Given the description of an element on the screen output the (x, y) to click on. 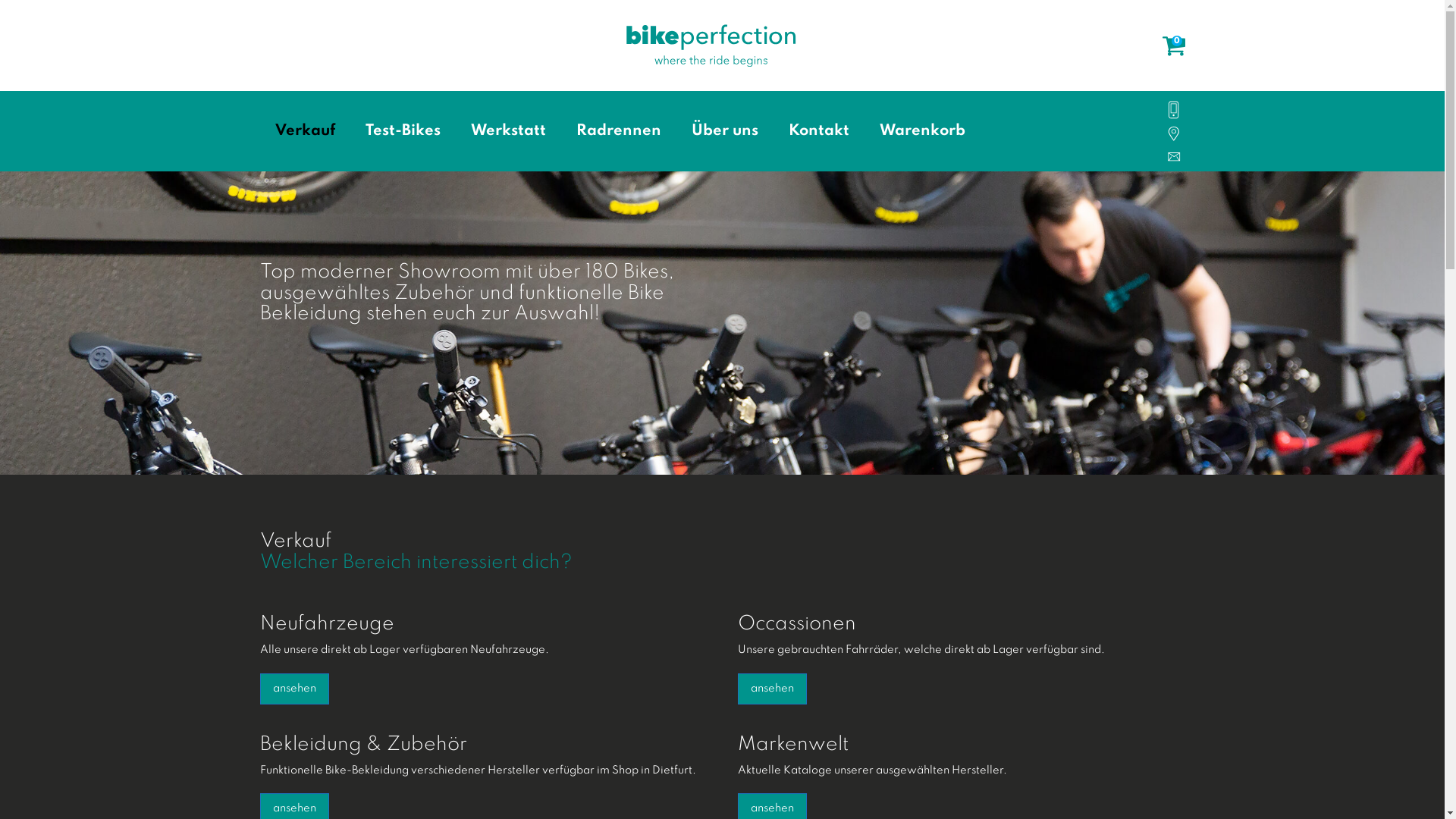
Warenkorb Element type: text (922, 131)
Werkstatt Element type: text (507, 131)
ansehen Element type: text (771, 689)
Radrennen Element type: text (618, 131)
ansehen Element type: text (293, 689)
Test-Bikes Element type: text (402, 131)
Kontakt Element type: text (818, 131)
Verkauf Element type: text (304, 131)
